Given the description of an element on the screen output the (x, y) to click on. 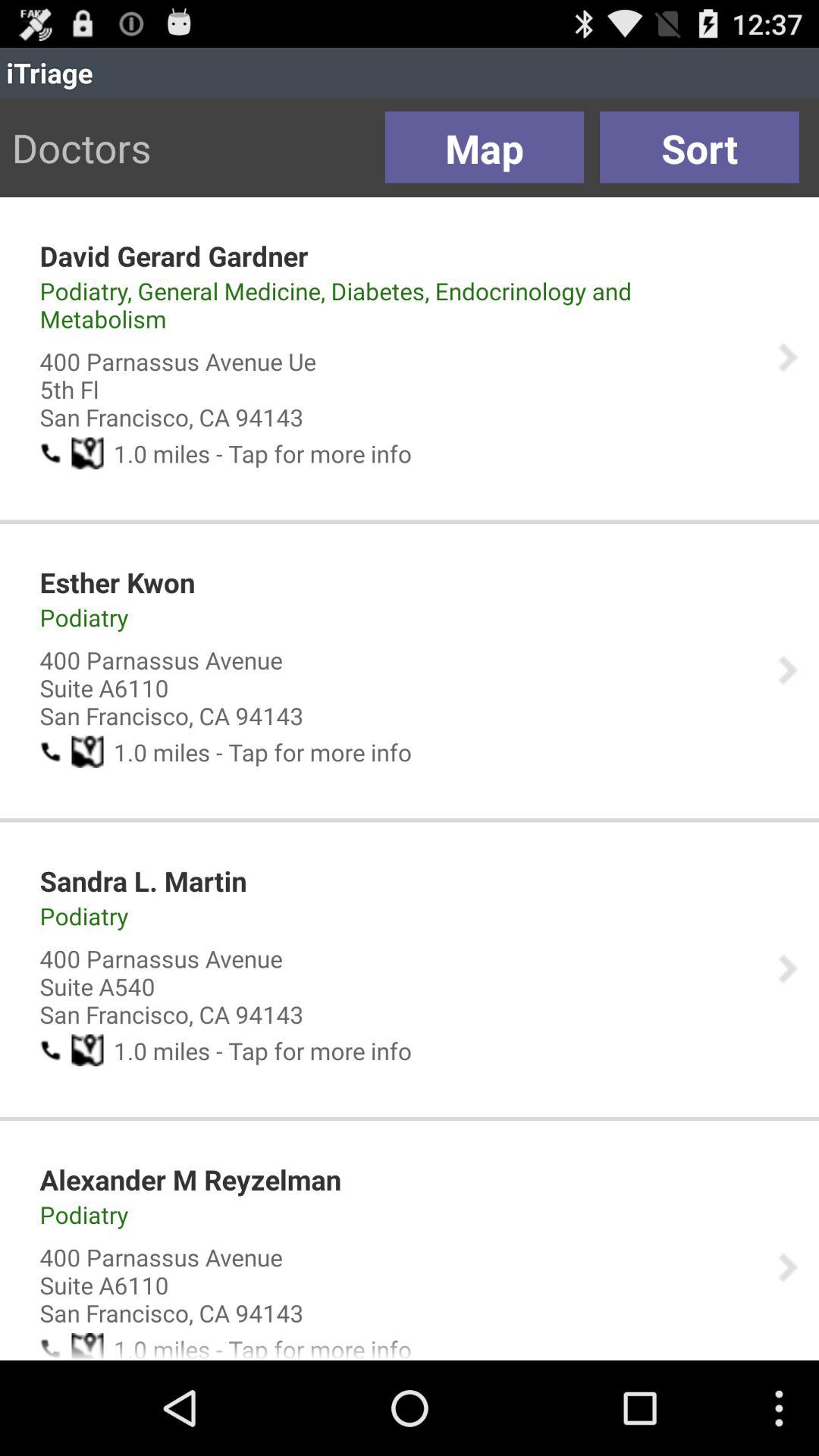
tap the item below the 1.0 item (117, 582)
